Given the description of an element on the screen output the (x, y) to click on. 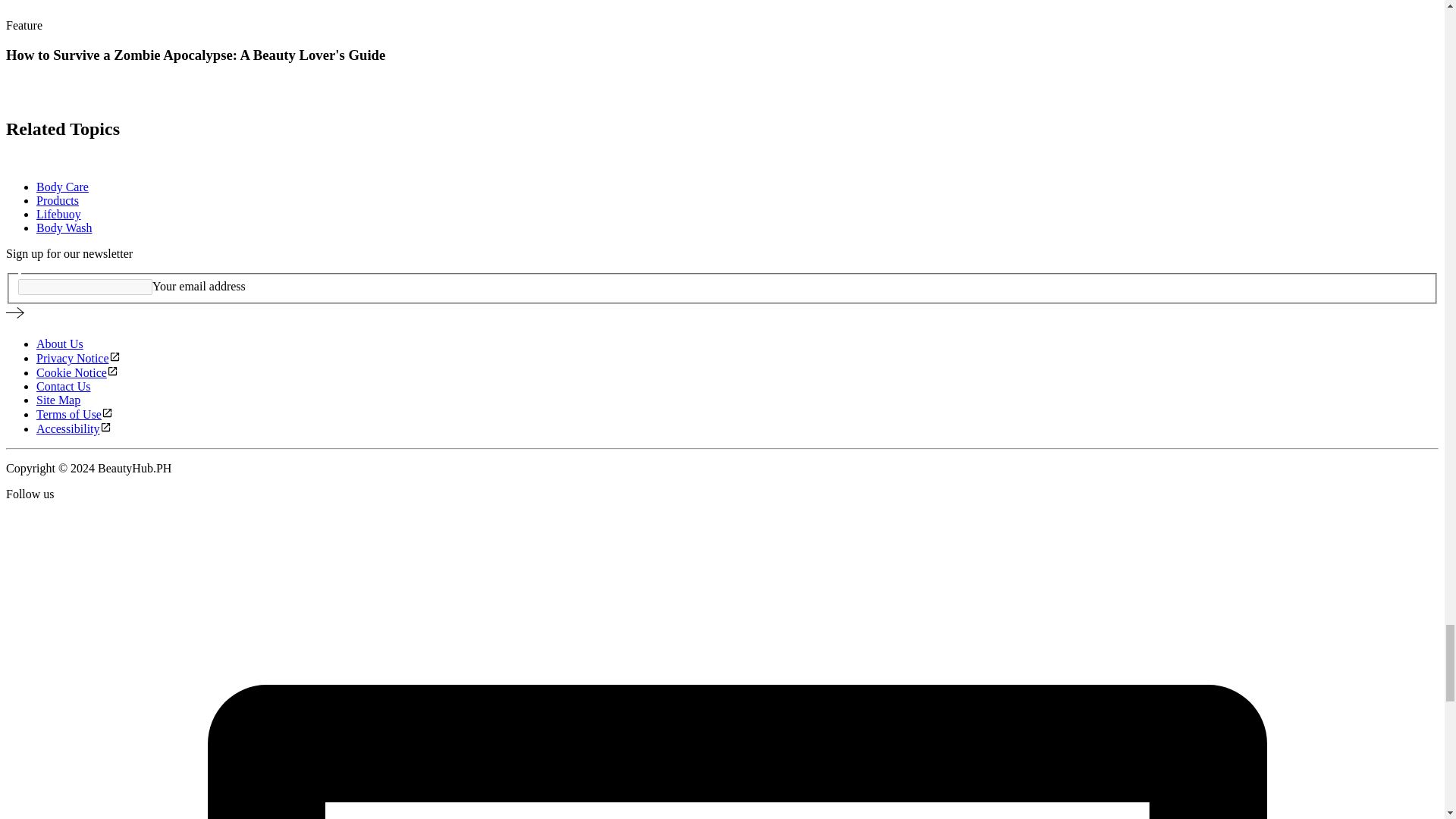
Privacy Notice - Link opens in a new window (78, 358)
Accessibility - Link opens in a new window (74, 428)
Click to see Article details (25, 96)
Terms of Use - Link opens in a new window (74, 413)
Cookie Notice - Link opens in a new window (76, 372)
